Given the description of an element on the screen output the (x, y) to click on. 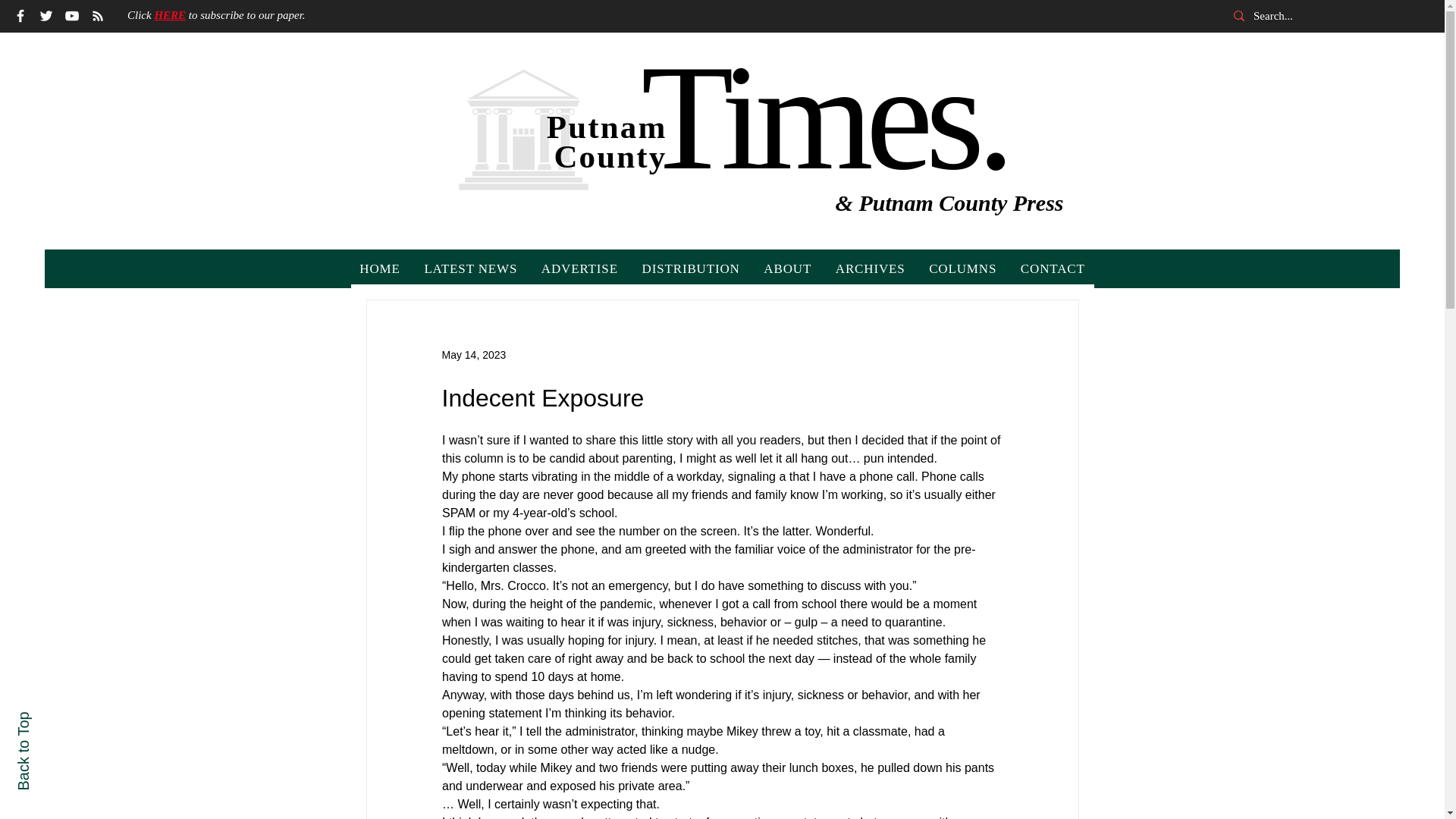
LATEST NEWS (469, 268)
May 14, 2023 (473, 354)
Times. (824, 116)
COLUMNS (963, 268)
ADVERTISE (579, 268)
HOME (379, 268)
ABOUT (788, 268)
ARCHIVES (870, 268)
HERE (170, 15)
Back to Top (54, 719)
CONTACT (1052, 268)
DISTRIBUTION (691, 268)
